Given the description of an element on the screen output the (x, y) to click on. 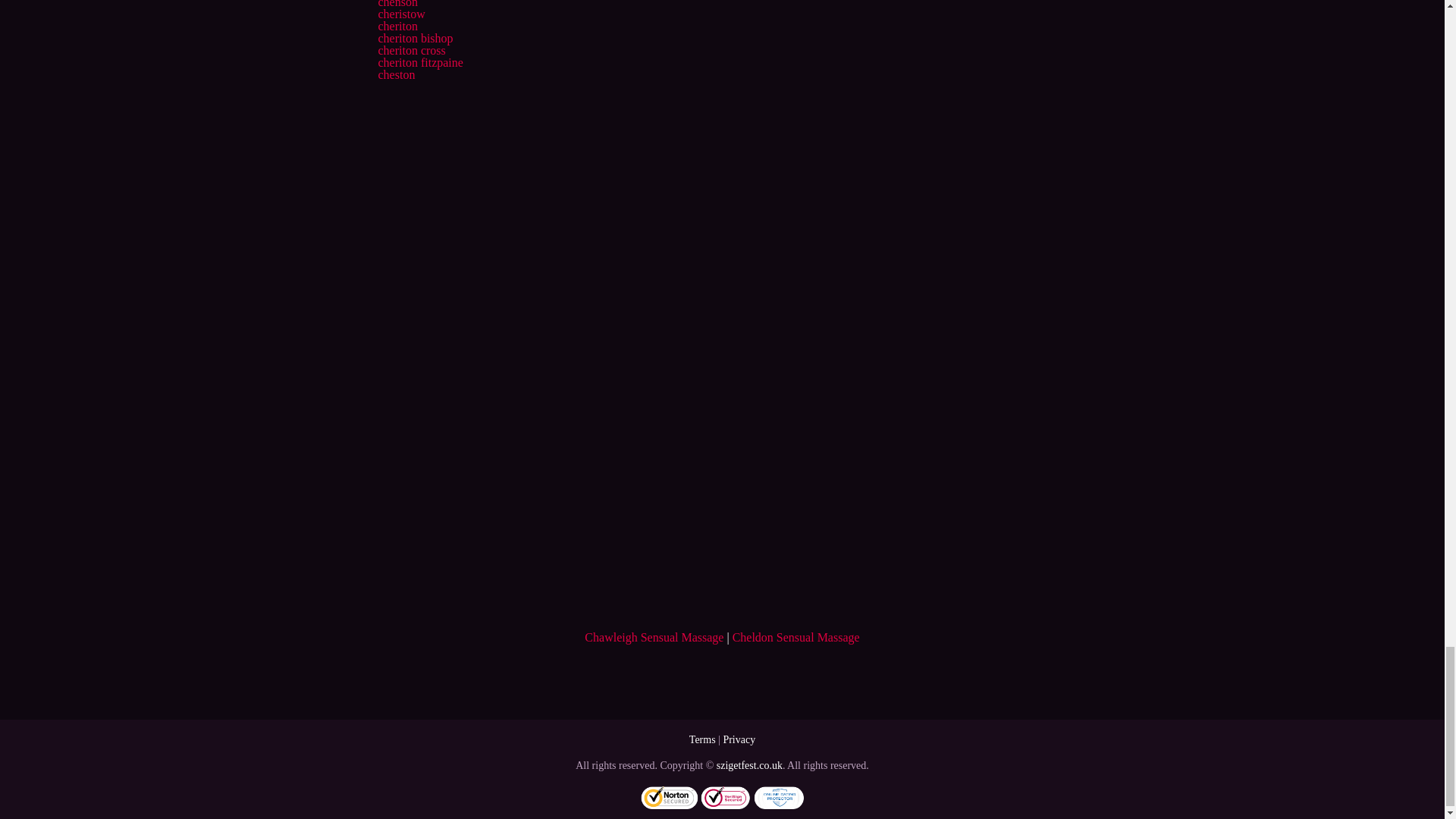
cheriton fitzpaine (420, 62)
Privacy (738, 739)
Cheldon Sensual Massage (796, 636)
cheriton (396, 25)
Chawleigh Sensual Massage (654, 636)
chenson (396, 4)
cheriton cross (411, 50)
Terms (702, 739)
cheriton bishop (414, 38)
szigetfest.co.uk (749, 765)
